Given the description of an element on the screen output the (x, y) to click on. 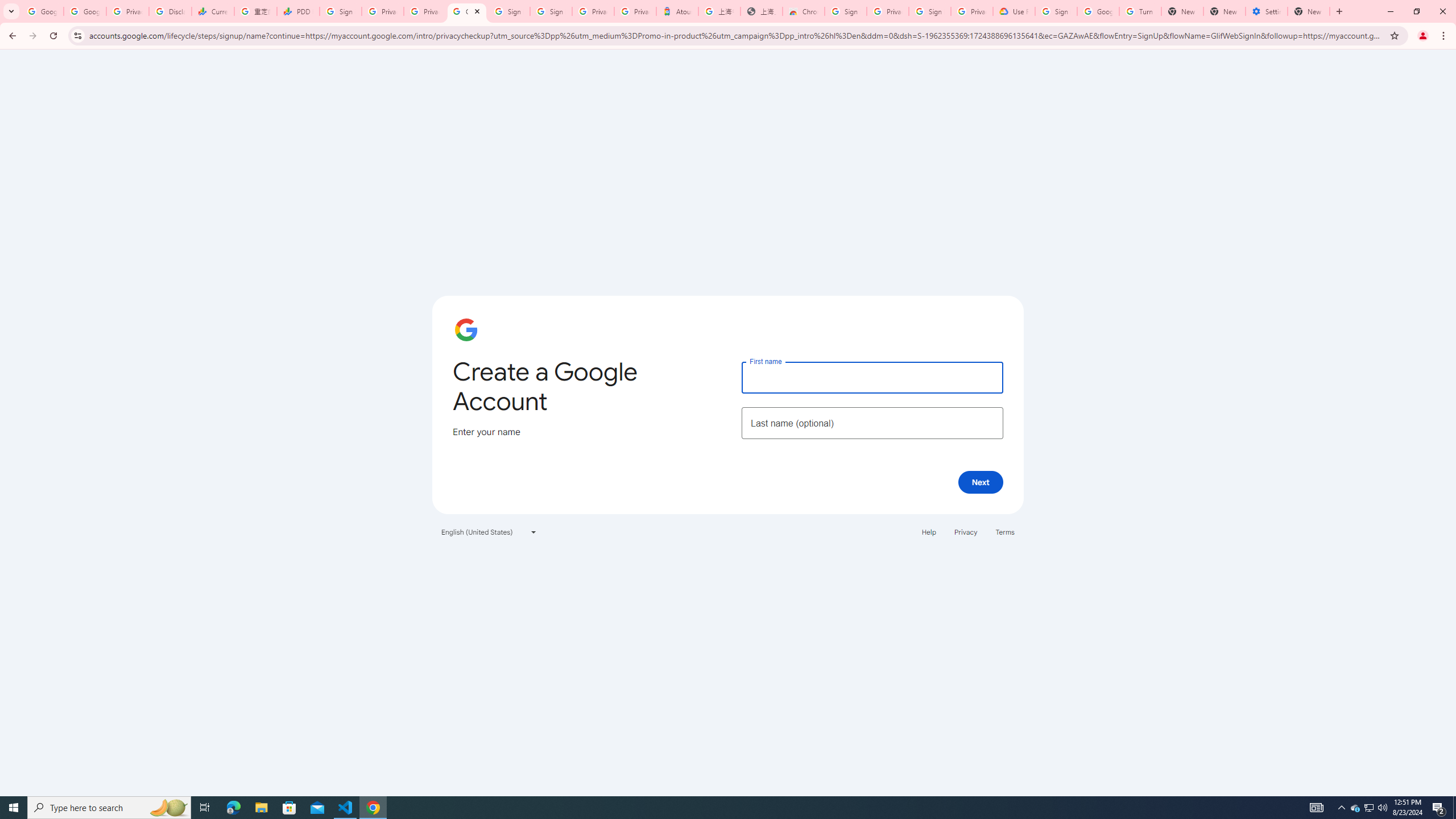
Address and search bar (735, 35)
Bookmark this tab (1393, 35)
English (United States) (489, 531)
New Tab (1308, 11)
Sign in - Google Accounts (1055, 11)
First name (871, 376)
Help (928, 531)
